Given the description of an element on the screen output the (x, y) to click on. 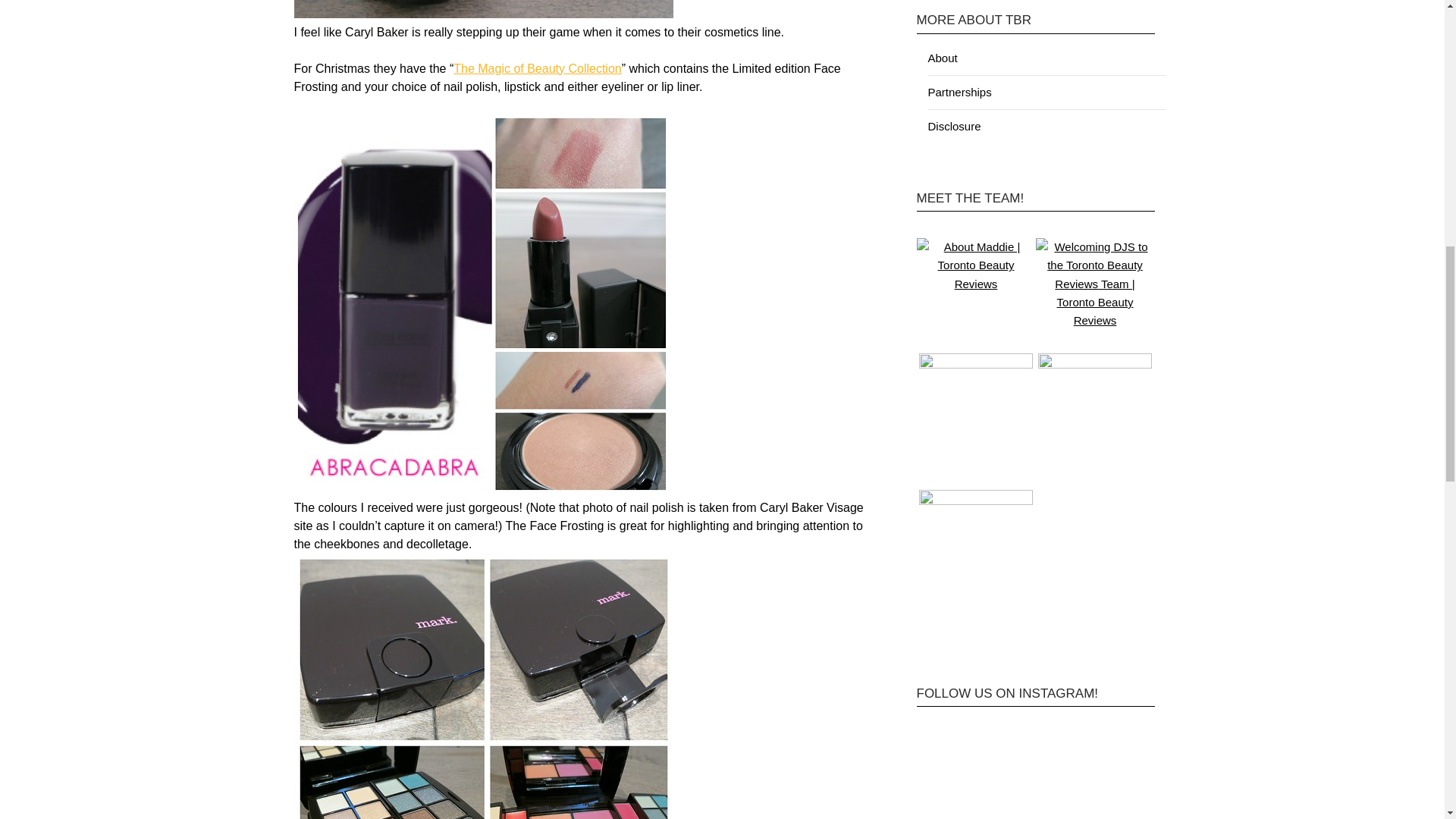
The Magic of Beauty Collection (536, 68)
Caryl-Baker-Visage-Holiday by TOBeautyReviews, on Flickr (481, 489)
